Given the description of an element on the screen output the (x, y) to click on. 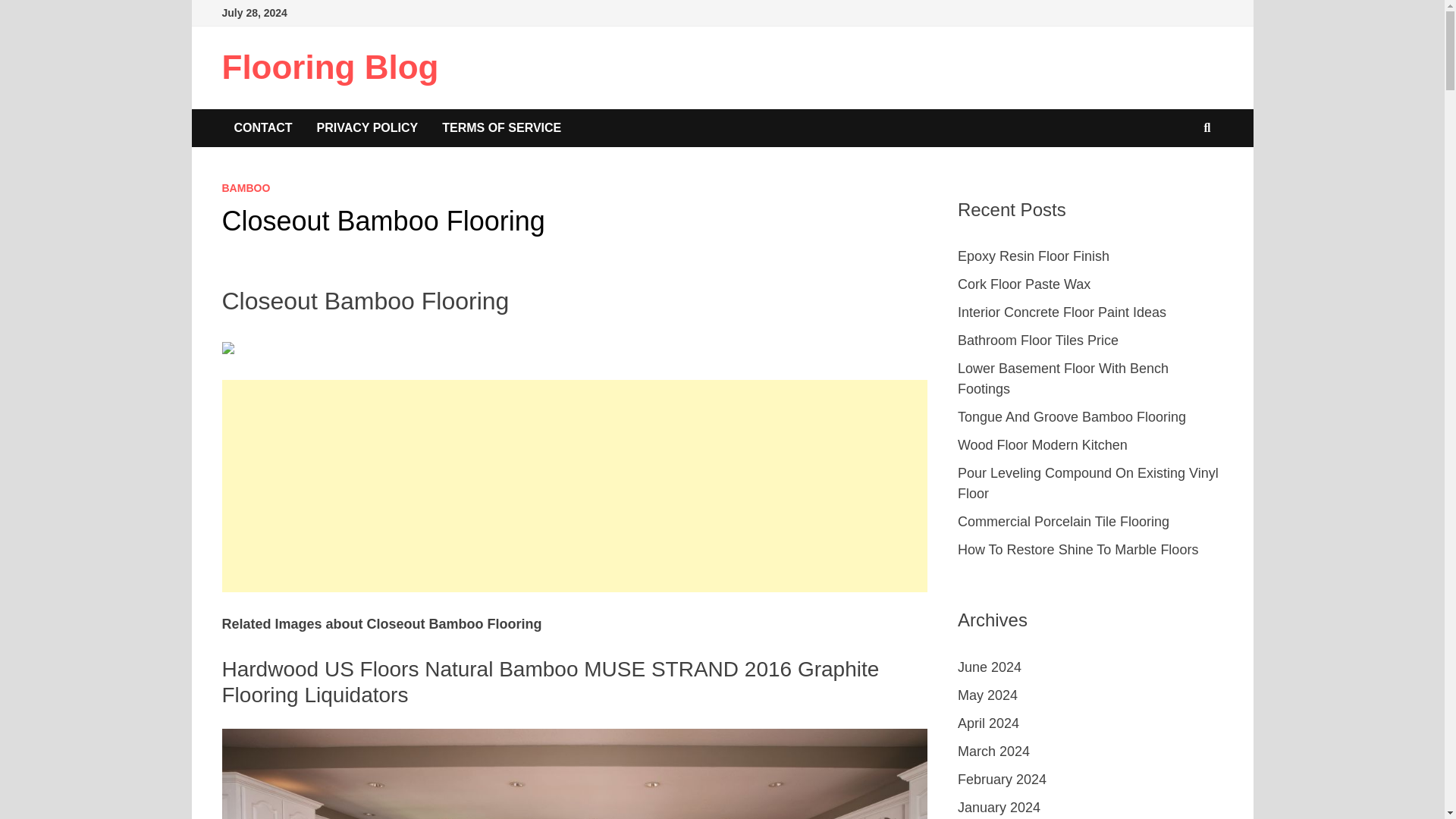
Interior Concrete Floor Paint Ideas (1062, 312)
Lower Basement Floor With Bench Footings (1063, 378)
Wood Floor Modern Kitchen (1042, 444)
CONTACT (262, 127)
Bathroom Floor Tiles Price (1038, 340)
BAMBOO (245, 187)
TERMS OF SERVICE (501, 127)
Pour Leveling Compound On Existing Vinyl Floor (1088, 483)
Tongue And Groove Bamboo Flooring (1072, 417)
Epoxy Resin Floor Finish (1033, 255)
Flooring Blog (329, 66)
Cork Floor Paste Wax (1024, 283)
PRIVACY POLICY (367, 127)
